Given the description of an element on the screen output the (x, y) to click on. 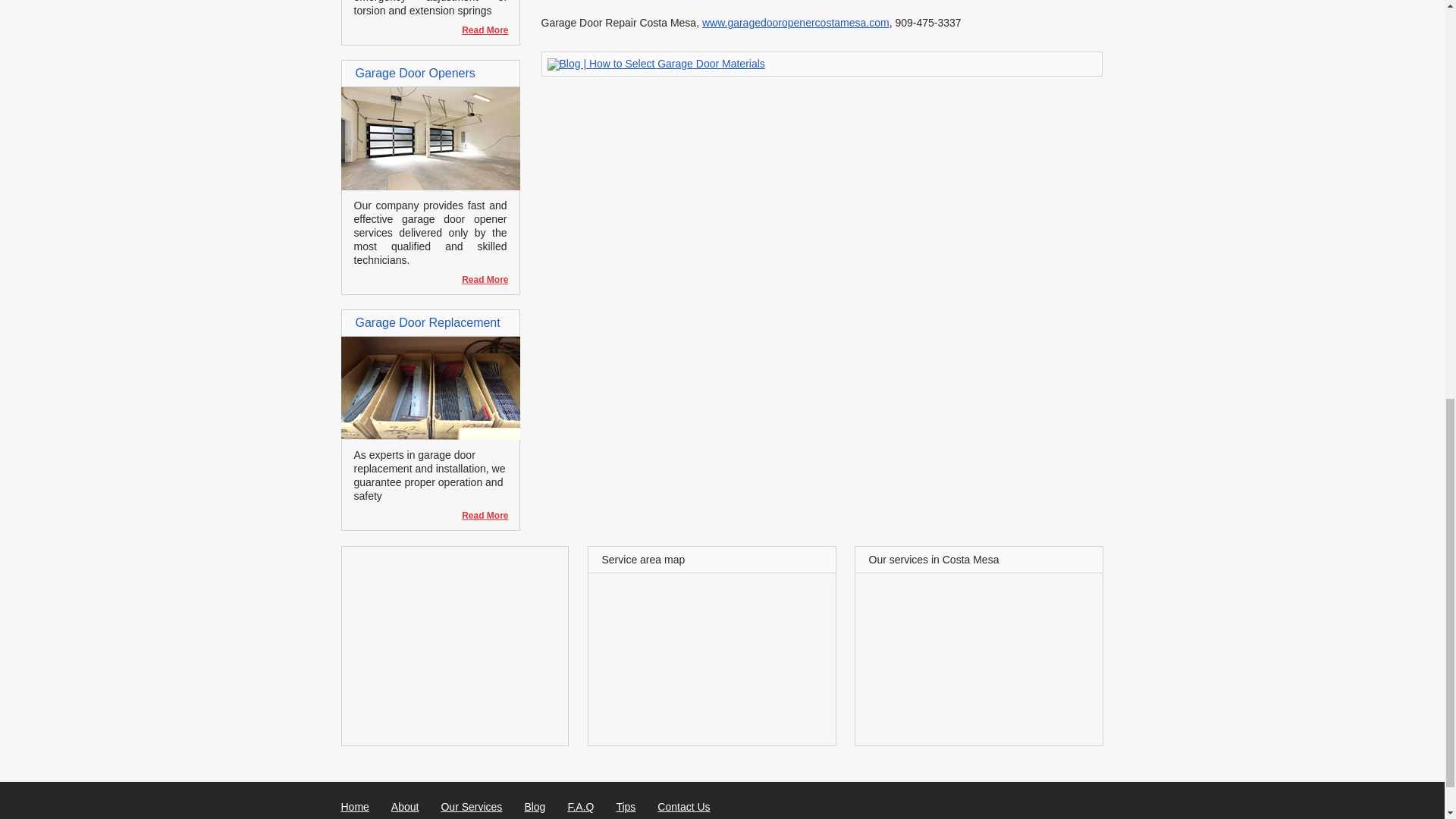
Garage Door Openers (414, 72)
Read More (477, 280)
Read More (477, 280)
Our Services (471, 806)
Garage Door Replacement (429, 435)
Read More (477, 30)
Garage Door Openers (429, 186)
Home (354, 806)
About (405, 806)
Banner (656, 63)
Read More (477, 515)
www.garagedooropenercostamesa.com (795, 22)
Blog (534, 806)
Read More (477, 30)
Garage Door Replacement (427, 322)
